Given the description of an element on the screen output the (x, y) to click on. 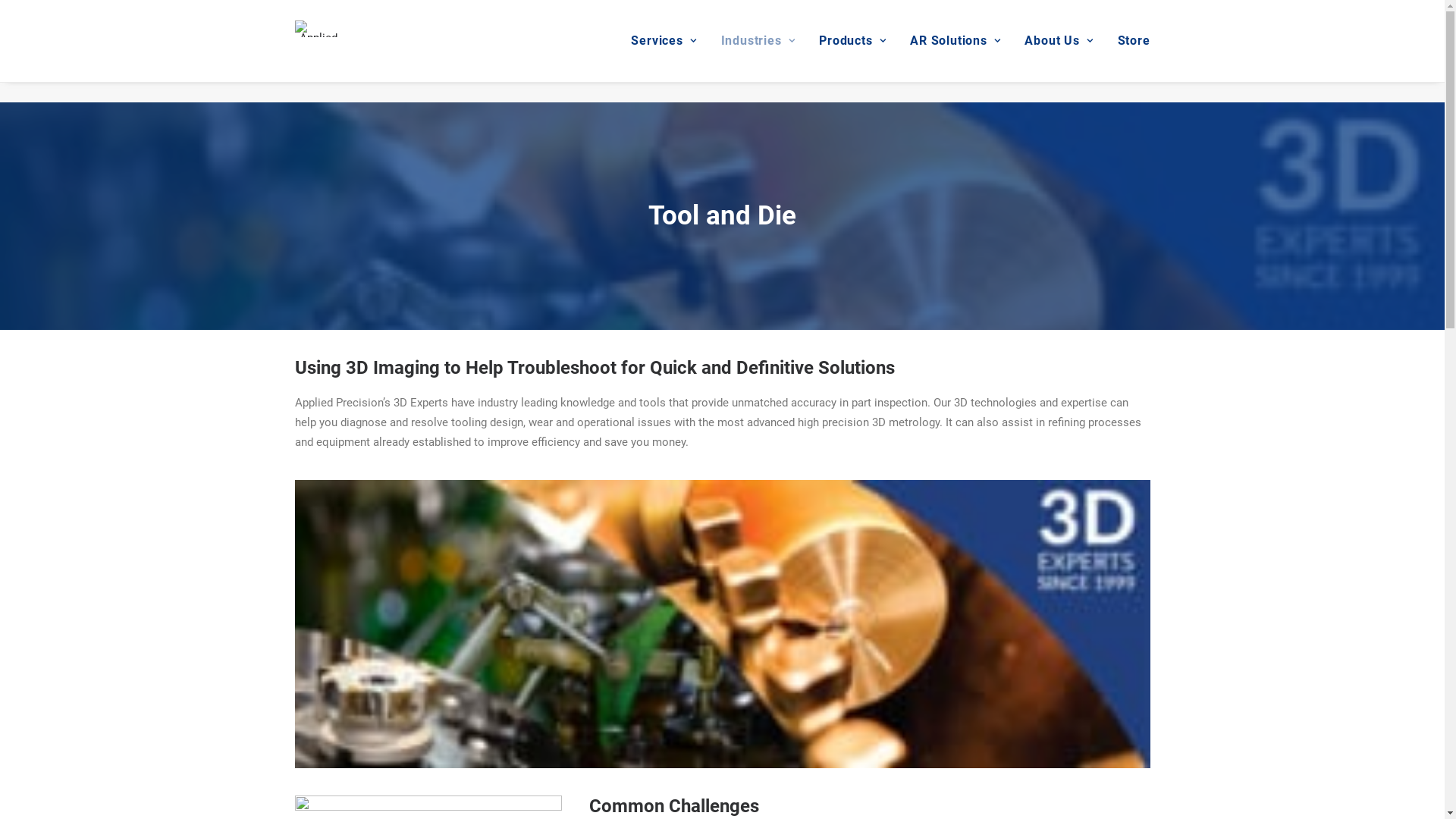
Store Element type: text (1128, 40)
Services Element type: text (668, 40)
About Us Element type: text (1058, 40)
Industries Element type: text (758, 40)
Products Element type: text (852, 40)
AR Solutions Element type: text (954, 40)
